Given the description of an element on the screen output the (x, y) to click on. 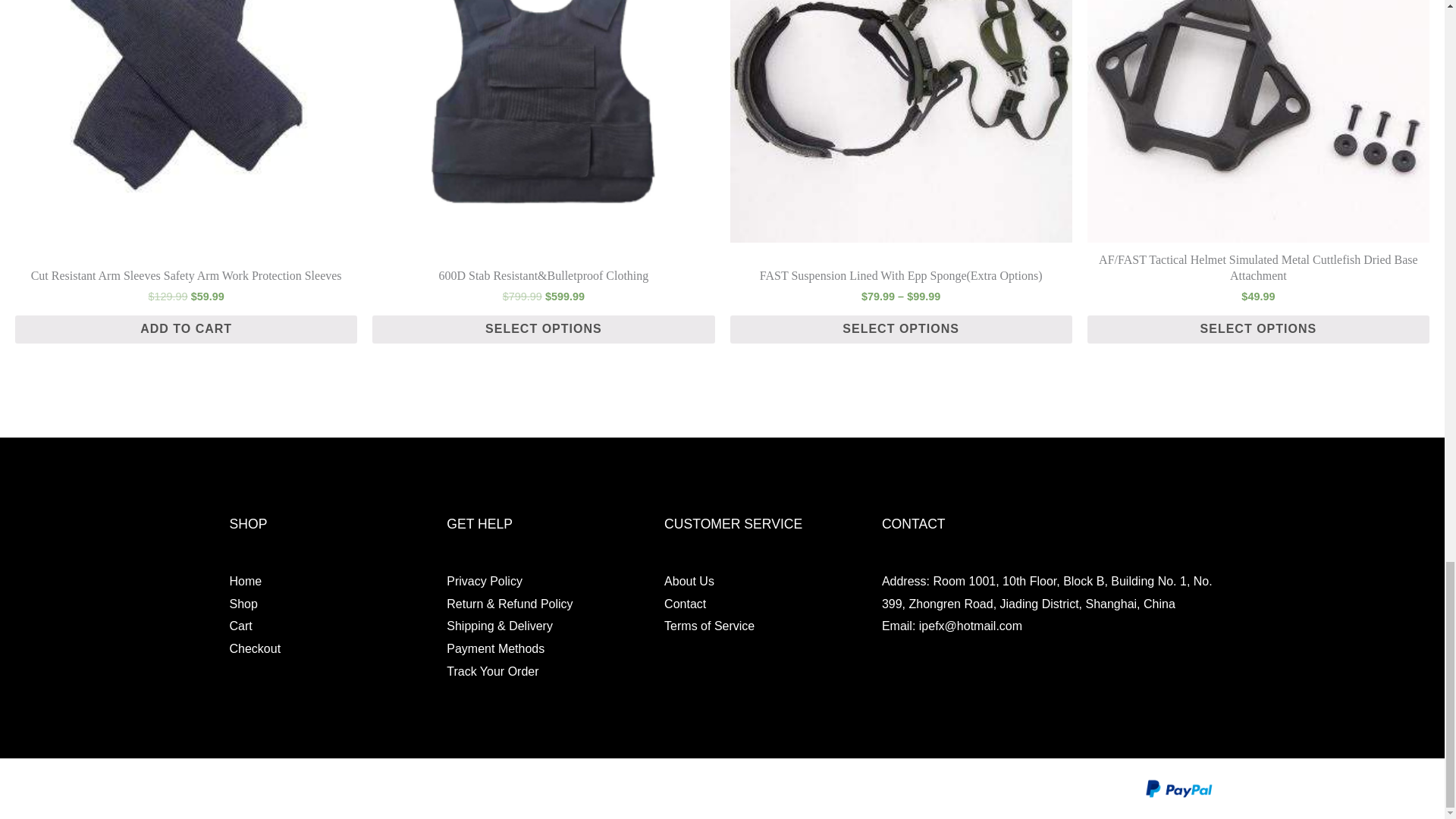
ADD TO CART (185, 329)
Cut Resistant Arm Sleeves Safety Arm Work Protection Sleeves (185, 276)
